Given the description of an element on the screen output the (x, y) to click on. 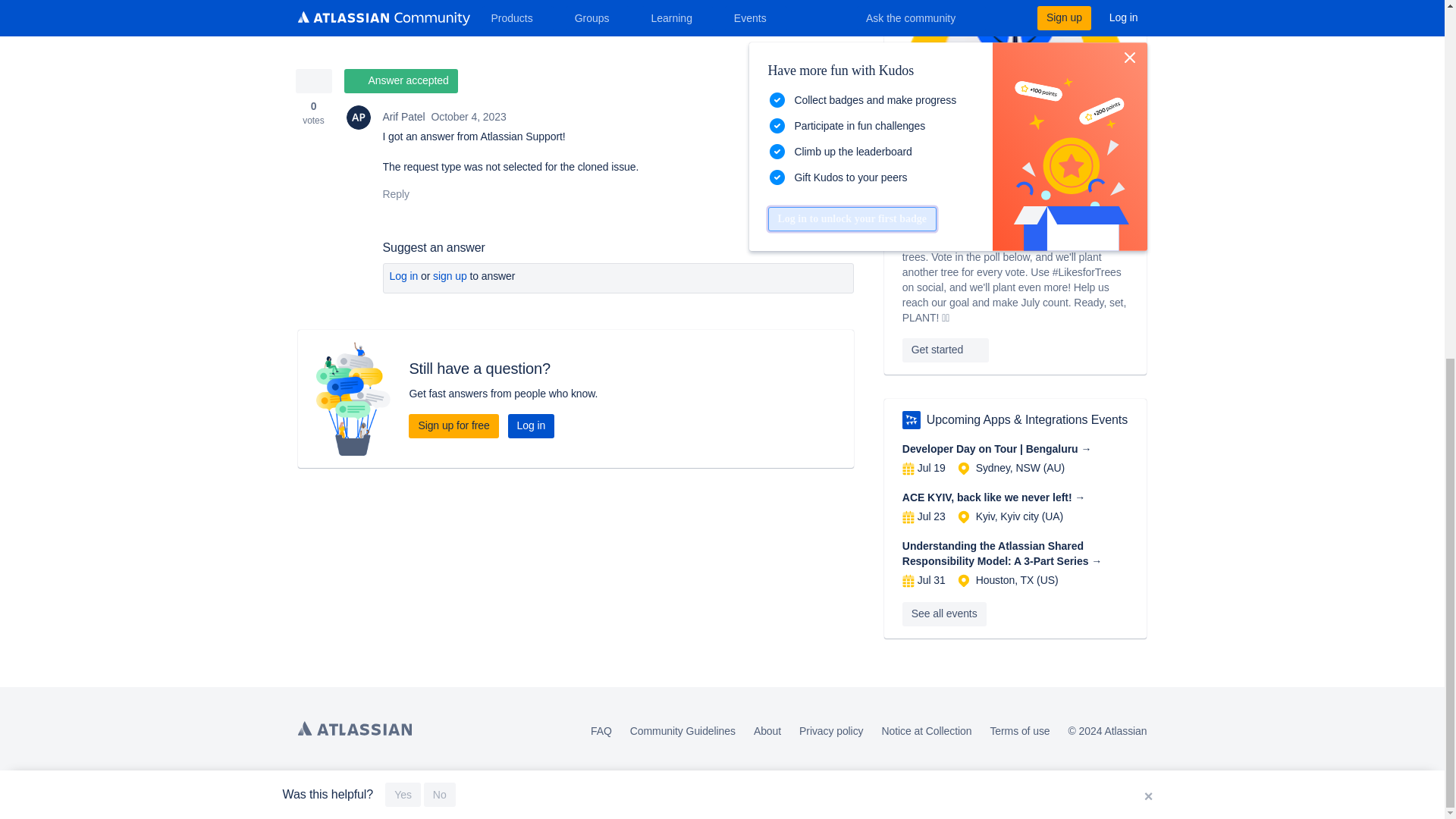
AUG Leaders (911, 420)
Arif Patel (357, 117)
